Given the description of an element on the screen output the (x, y) to click on. 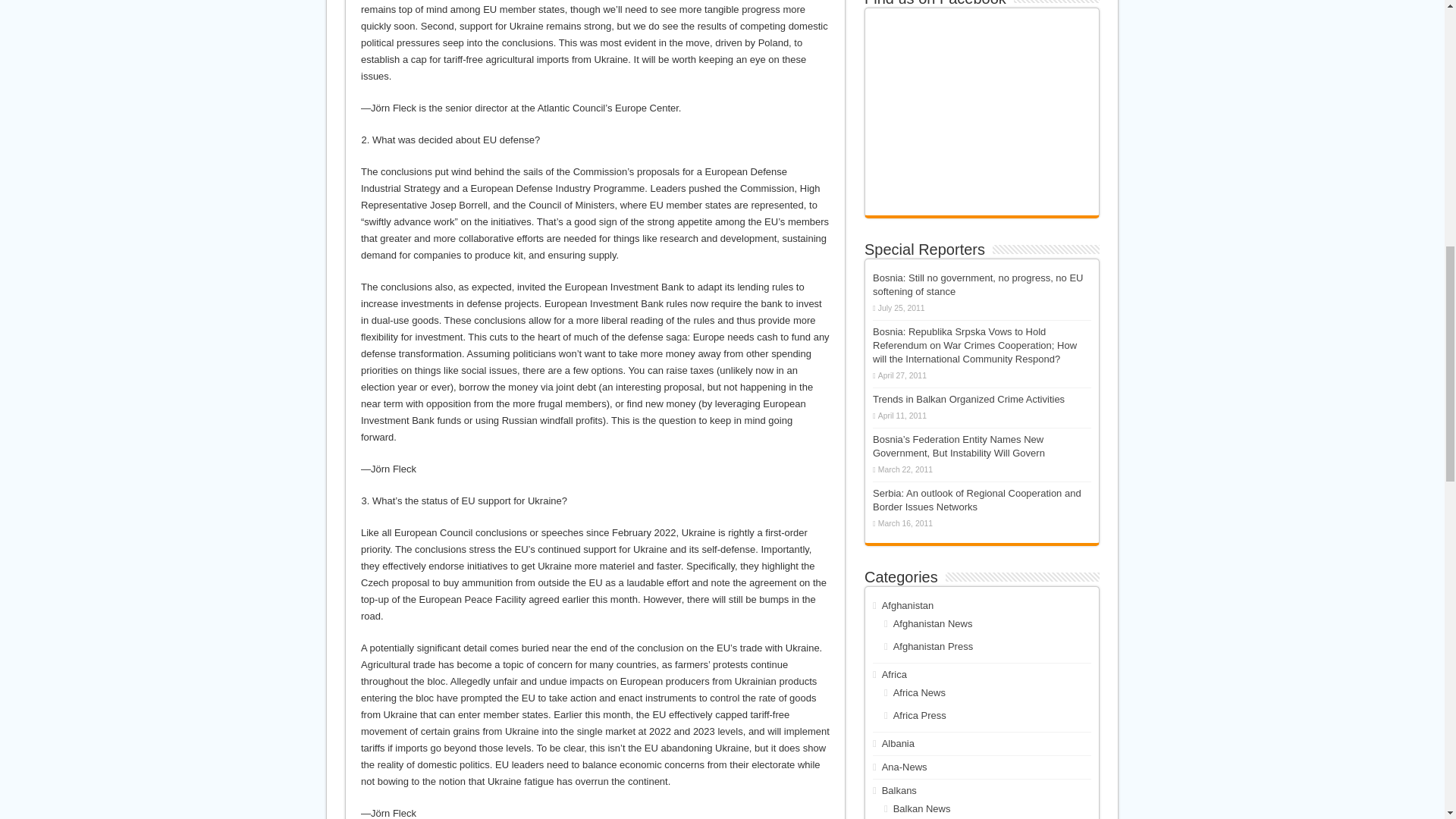
Scroll To Top (1421, 60)
